Given the description of an element on the screen output the (x, y) to click on. 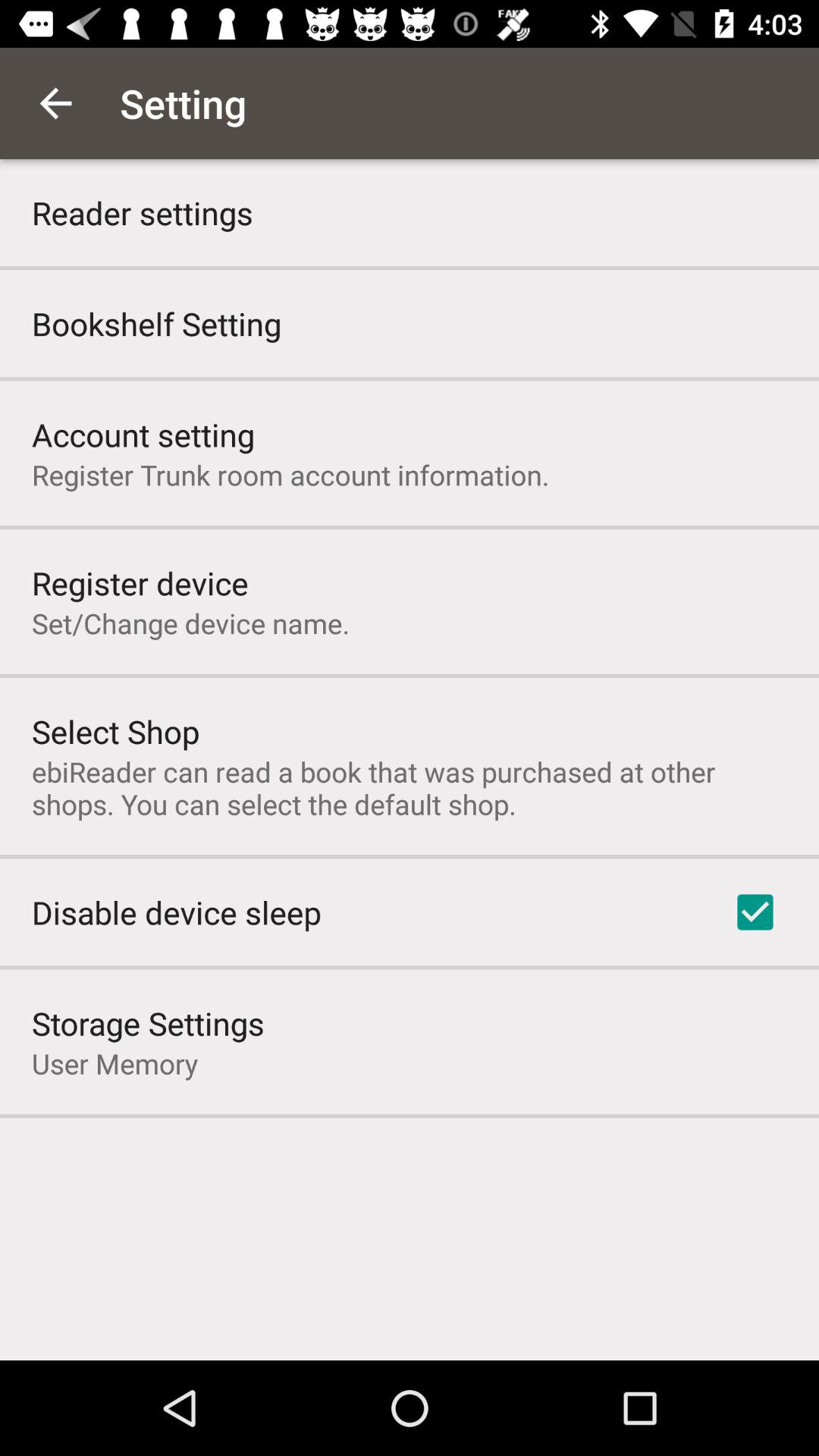
click the disable device sleep icon (176, 911)
